Given the description of an element on the screen output the (x, y) to click on. 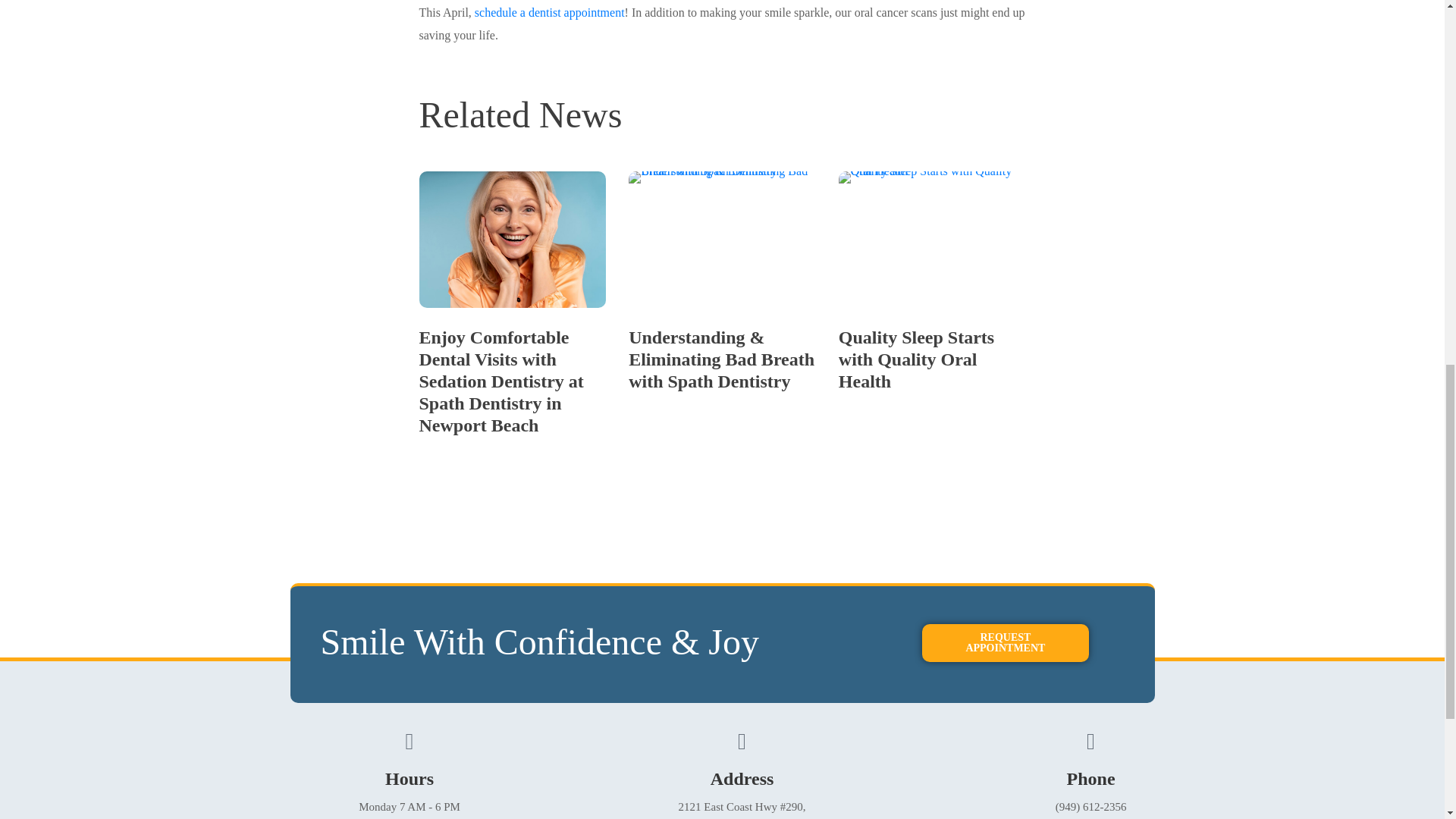
Phone (1091, 778)
schedule a dentist appointment (549, 11)
Quality Sleep Starts with Quality Oral Health (916, 359)
Address (742, 778)
REQUEST APPOINTMENT (1005, 642)
